Given the description of an element on the screen output the (x, y) to click on. 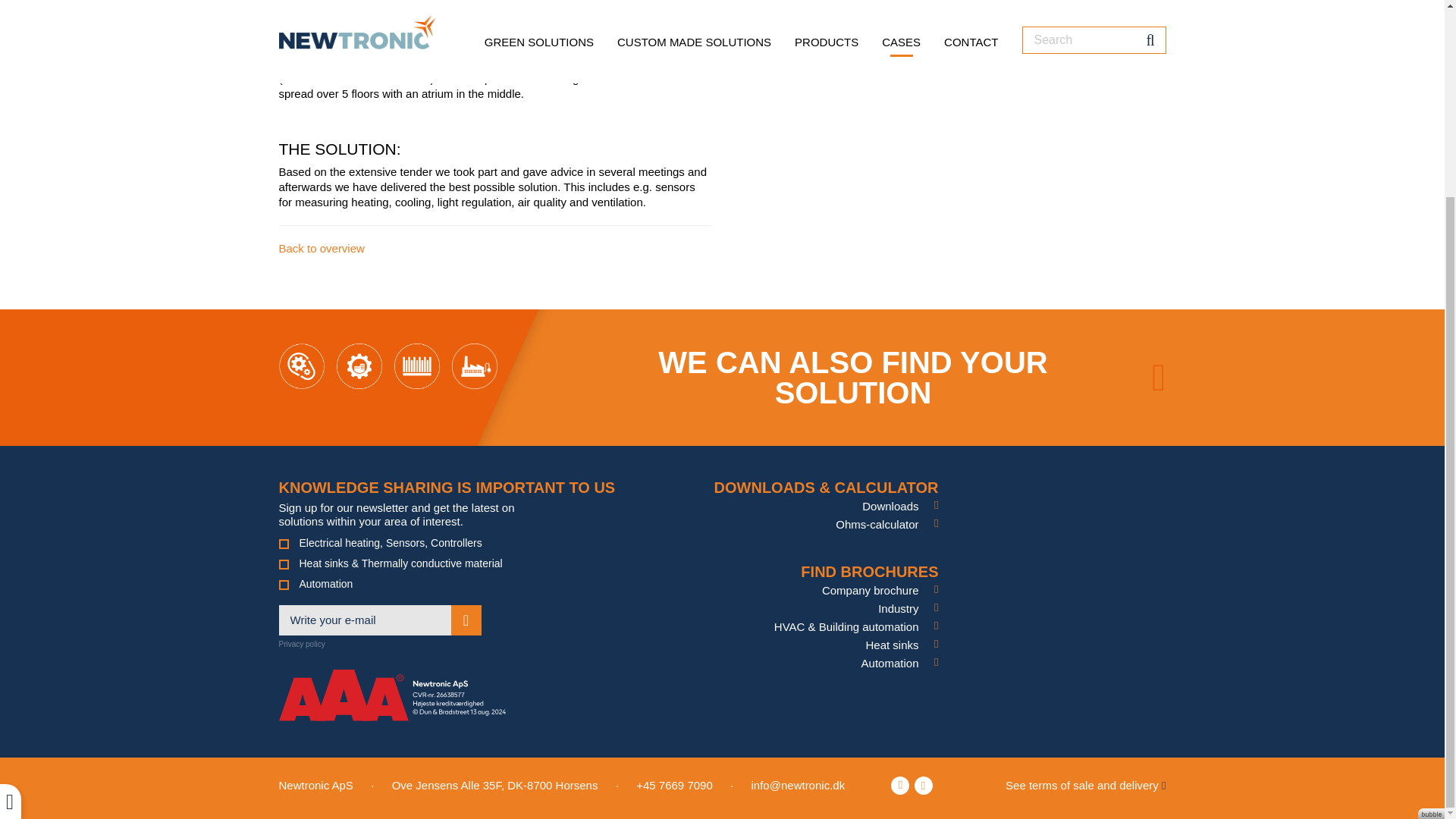
Back to overview (322, 247)
Downloads (899, 505)
See terms of sale and delivery (1086, 784)
Industry (907, 608)
Company brochure (880, 590)
Automation (900, 662)
Privacy policy (301, 643)
Ohms-calculator (886, 523)
Heat sinks (900, 644)
